Given the description of an element on the screen output the (x, y) to click on. 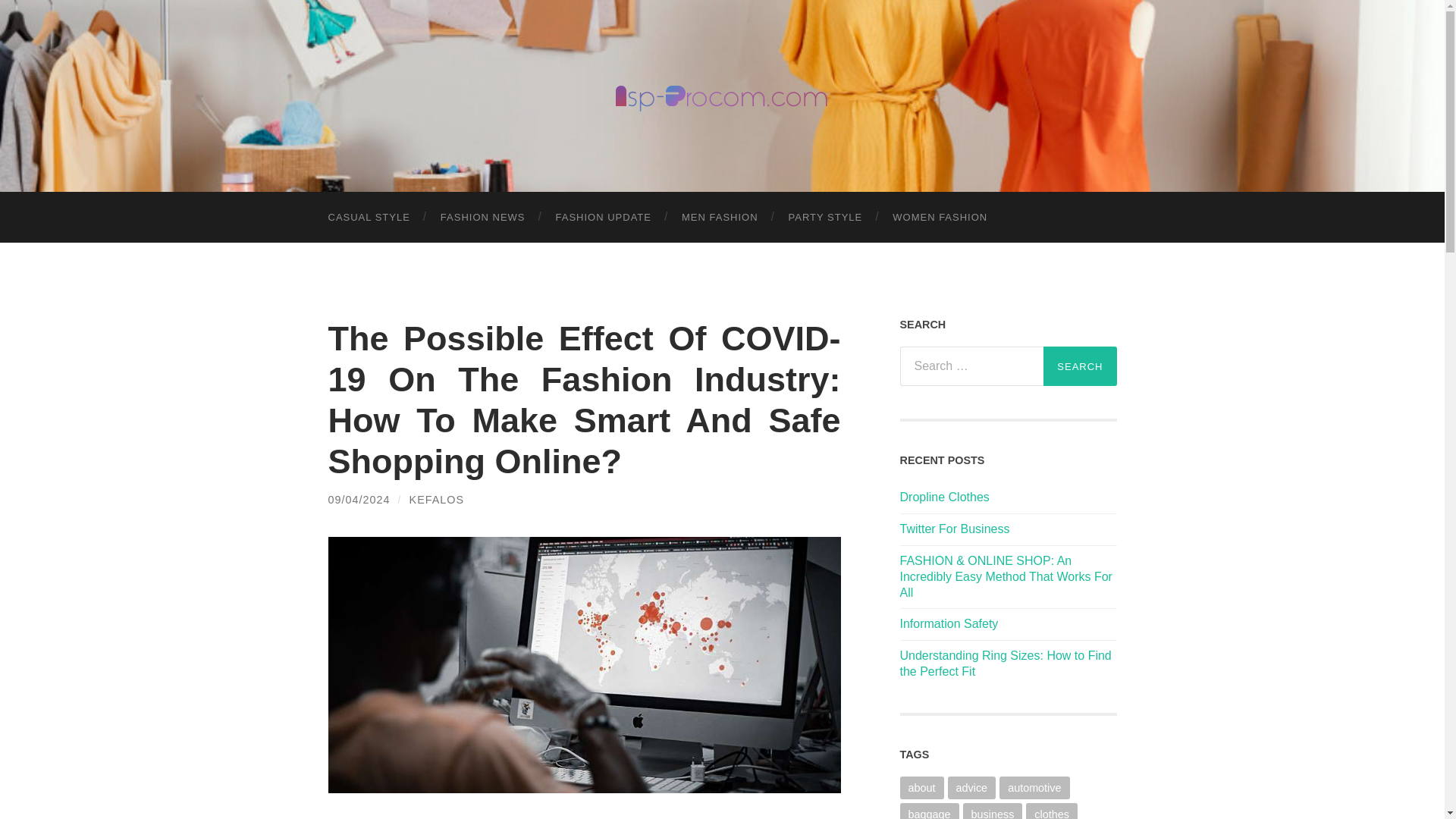
Twitter For Business (1007, 529)
WOMEN FASHION (940, 216)
about (921, 787)
Information Safety (1007, 624)
CASUAL STYLE (369, 216)
Posts by Kefalos (436, 499)
automotive (1033, 787)
Understanding Ring Sizes: How to Find the Perfect Fit (1007, 664)
clothes (1051, 811)
ISPPROCOM (721, 94)
